Given the description of an element on the screen output the (x, y) to click on. 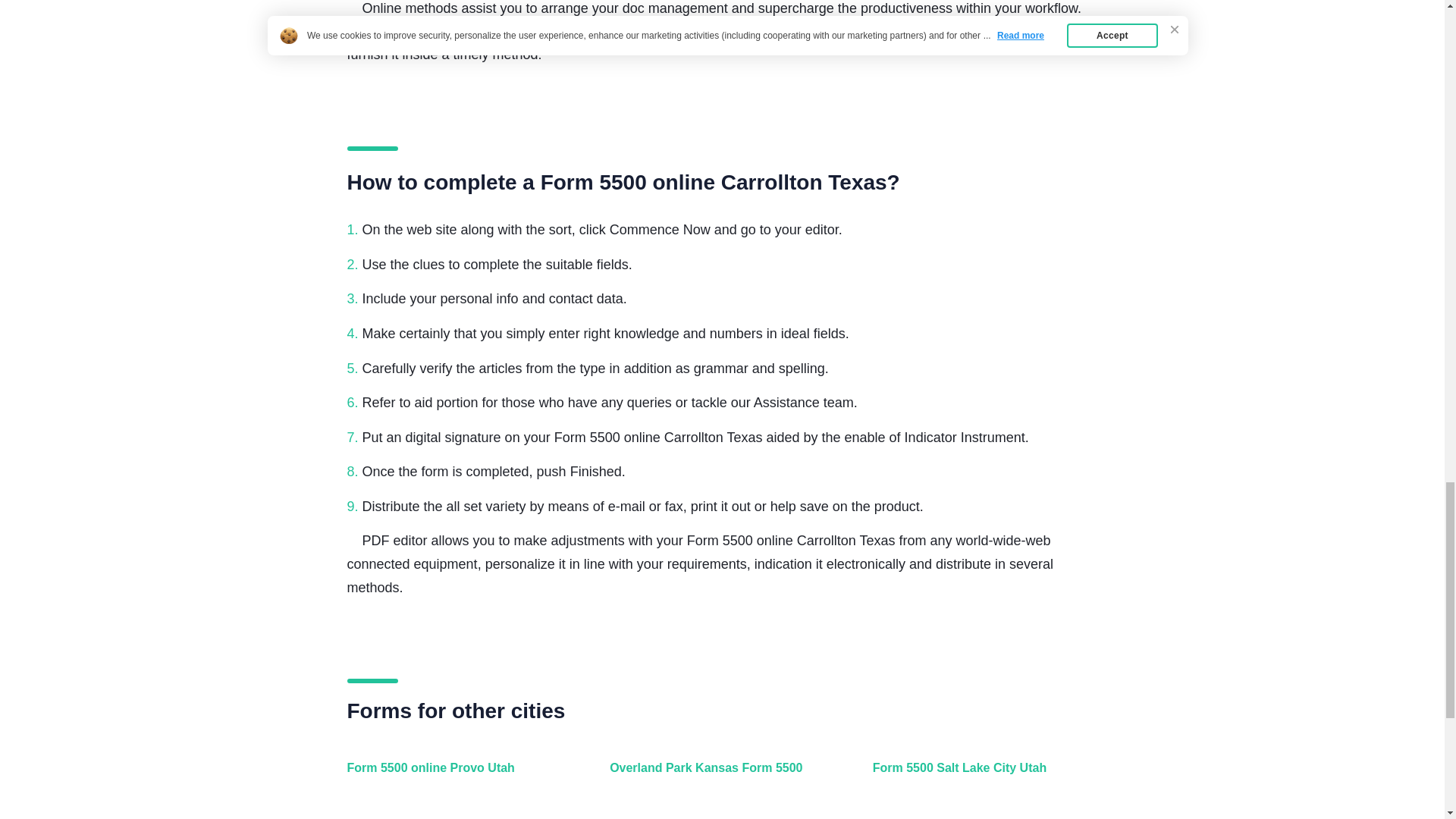
Form 5500 Salt Lake City Utah (981, 776)
Overland Park Kansas Form 5500 (718, 776)
Form 5500 online Provo Utah (456, 776)
